Given the description of an element on the screen output the (x, y) to click on. 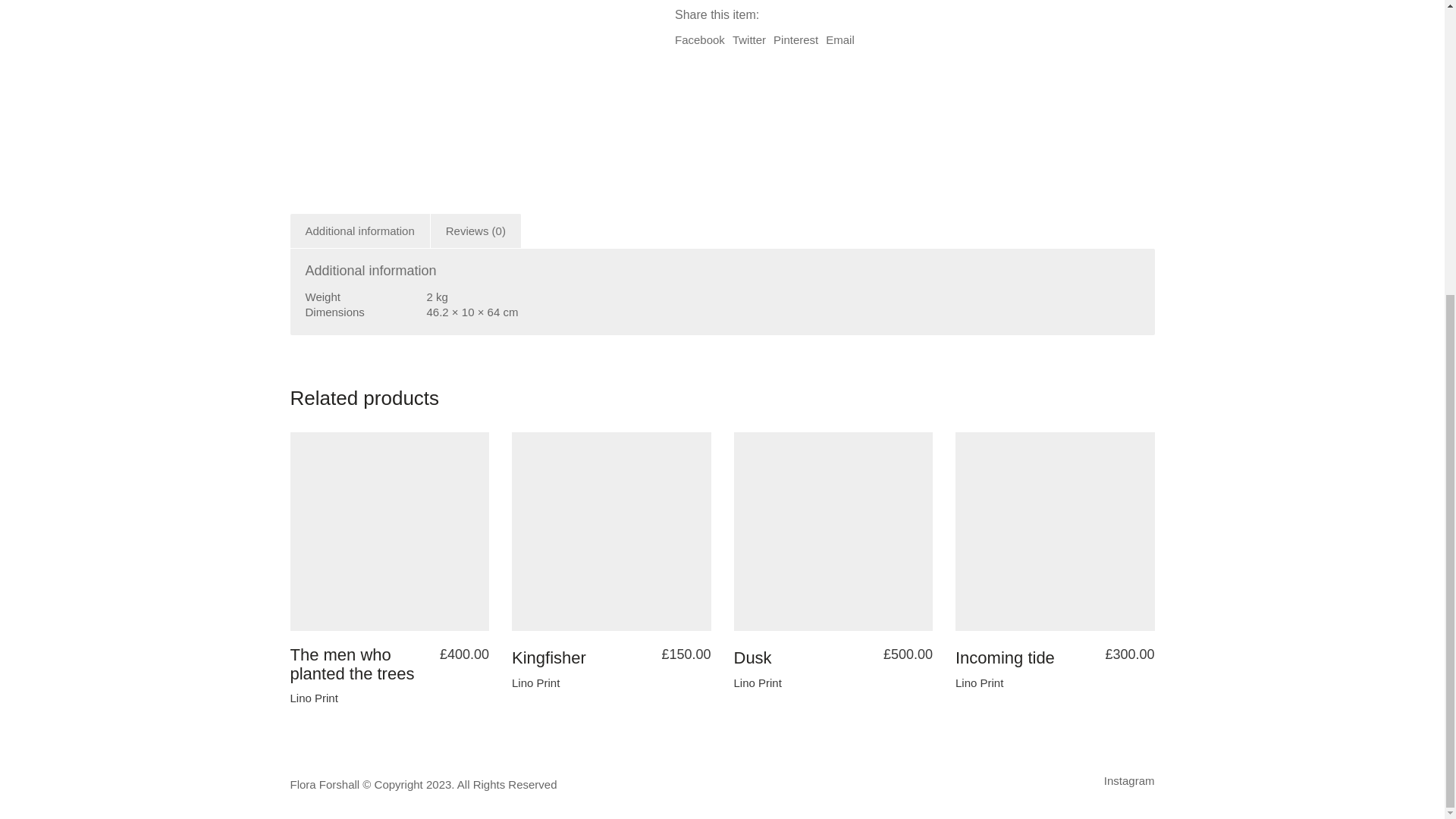
Twitter (748, 39)
Instagram (1128, 780)
Email (839, 39)
Facebook (700, 39)
Pinterest (795, 39)
Lino Print (313, 698)
The men who planted the trees (359, 664)
Additional information (359, 230)
